Given the description of an element on the screen output the (x, y) to click on. 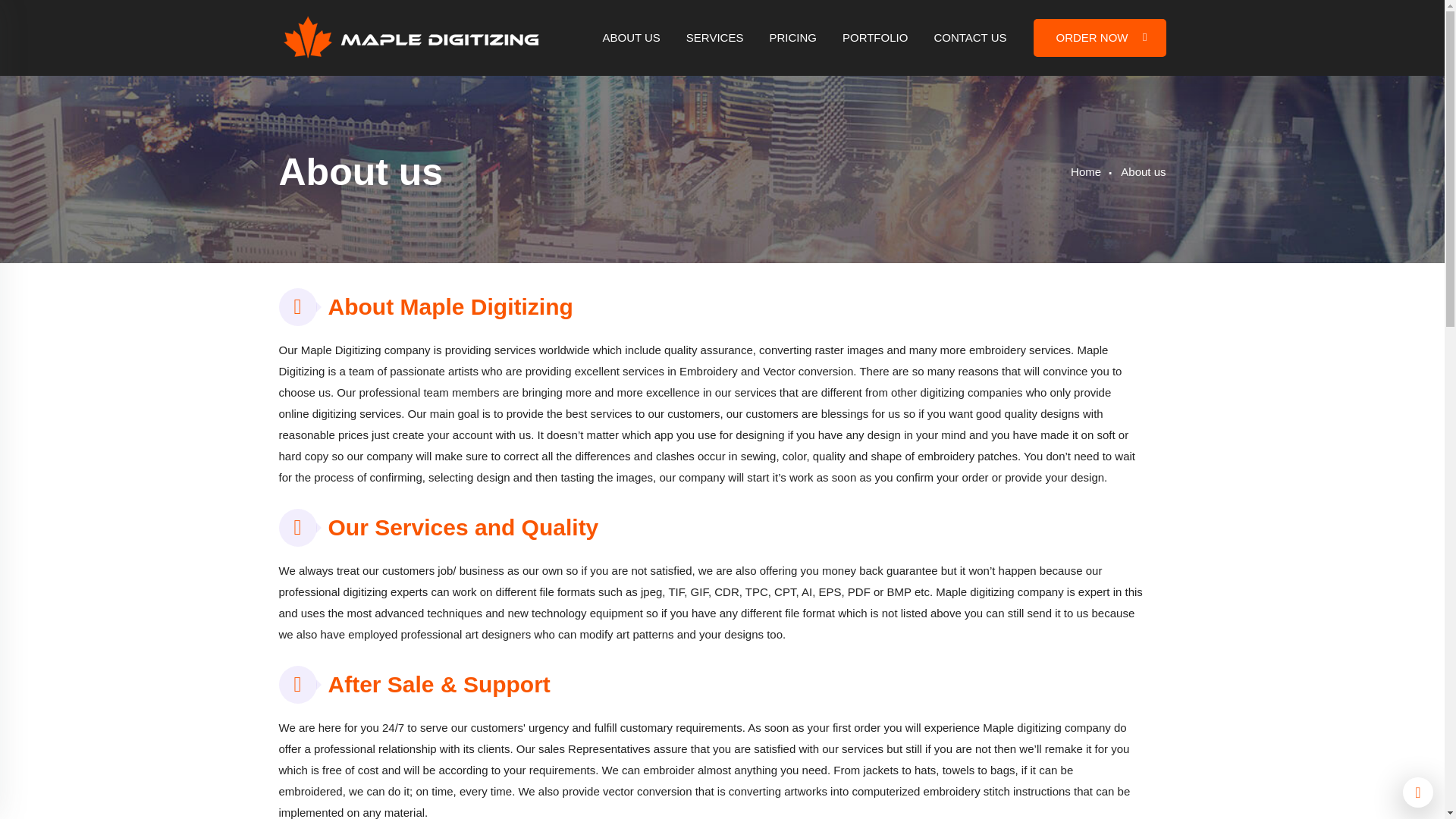
ORDER NOW (1099, 37)
SERVICES (714, 52)
ABOUT US (630, 52)
PORTFOLIO (875, 52)
Maple Digitizing (411, 36)
PRICING (792, 52)
Home (1085, 171)
CONTACT US (969, 52)
Go top (1418, 792)
